Given the description of an element on the screen output the (x, y) to click on. 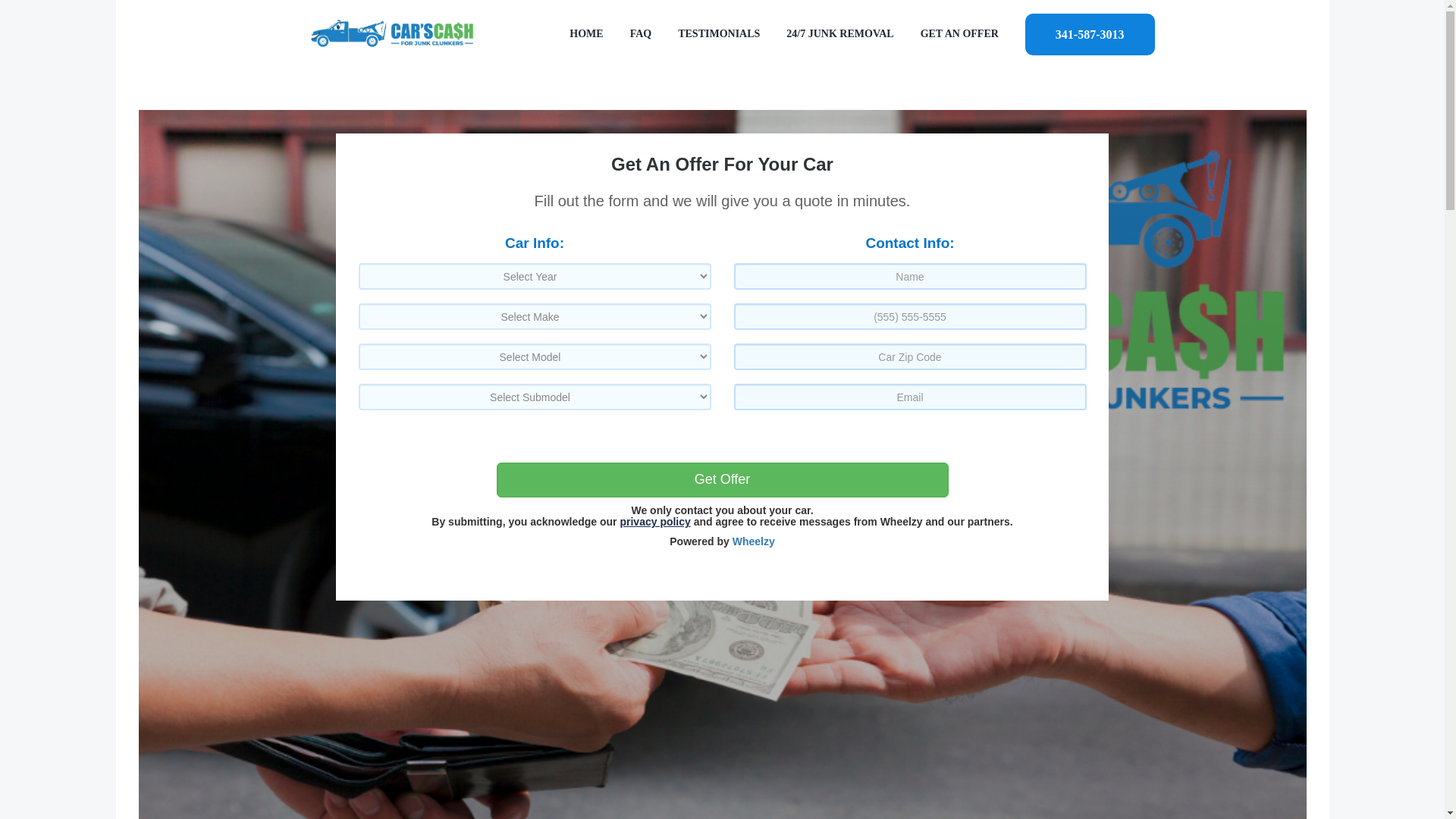
GET AN OFFER (959, 33)
TESTIMONIALS (719, 33)
341-587-3013 (1089, 33)
